Given the description of an element on the screen output the (x, y) to click on. 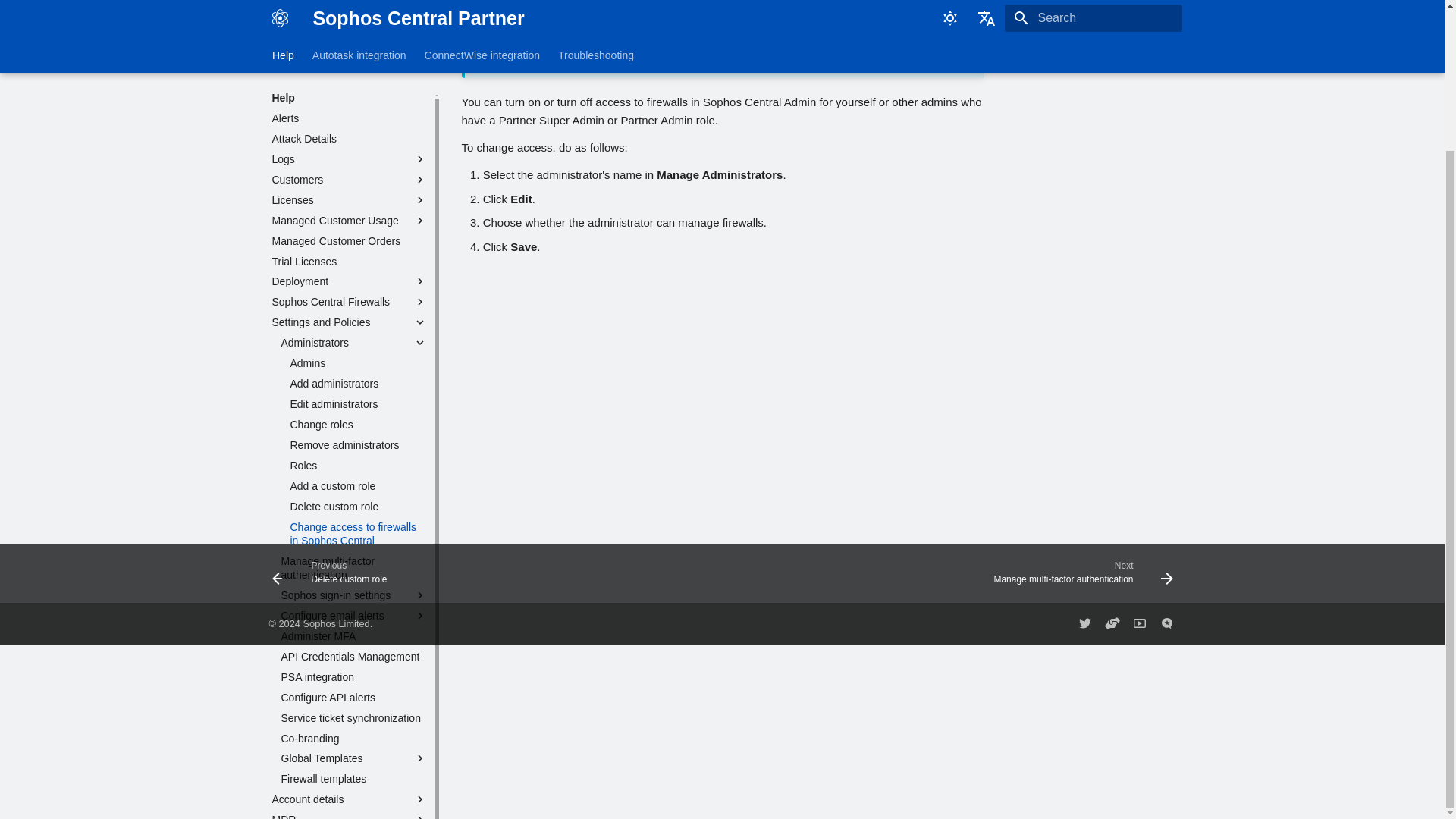
Managed Customer Usage (348, 69)
Edit administrators (357, 253)
Remove administrators (357, 294)
Trial Licenses (348, 110)
Change roles (357, 273)
Settings and Policies (338, 171)
Managed Customer Orders (348, 90)
Licenses (348, 49)
Admins (357, 212)
Sophos TechVids (1138, 623)
Sophos Central Firewalls (348, 151)
Sophos support on Twitter (1083, 623)
Support portal (1111, 623)
Delete custom role (357, 355)
Last update (467, 21)
